Given the description of an element on the screen output the (x, y) to click on. 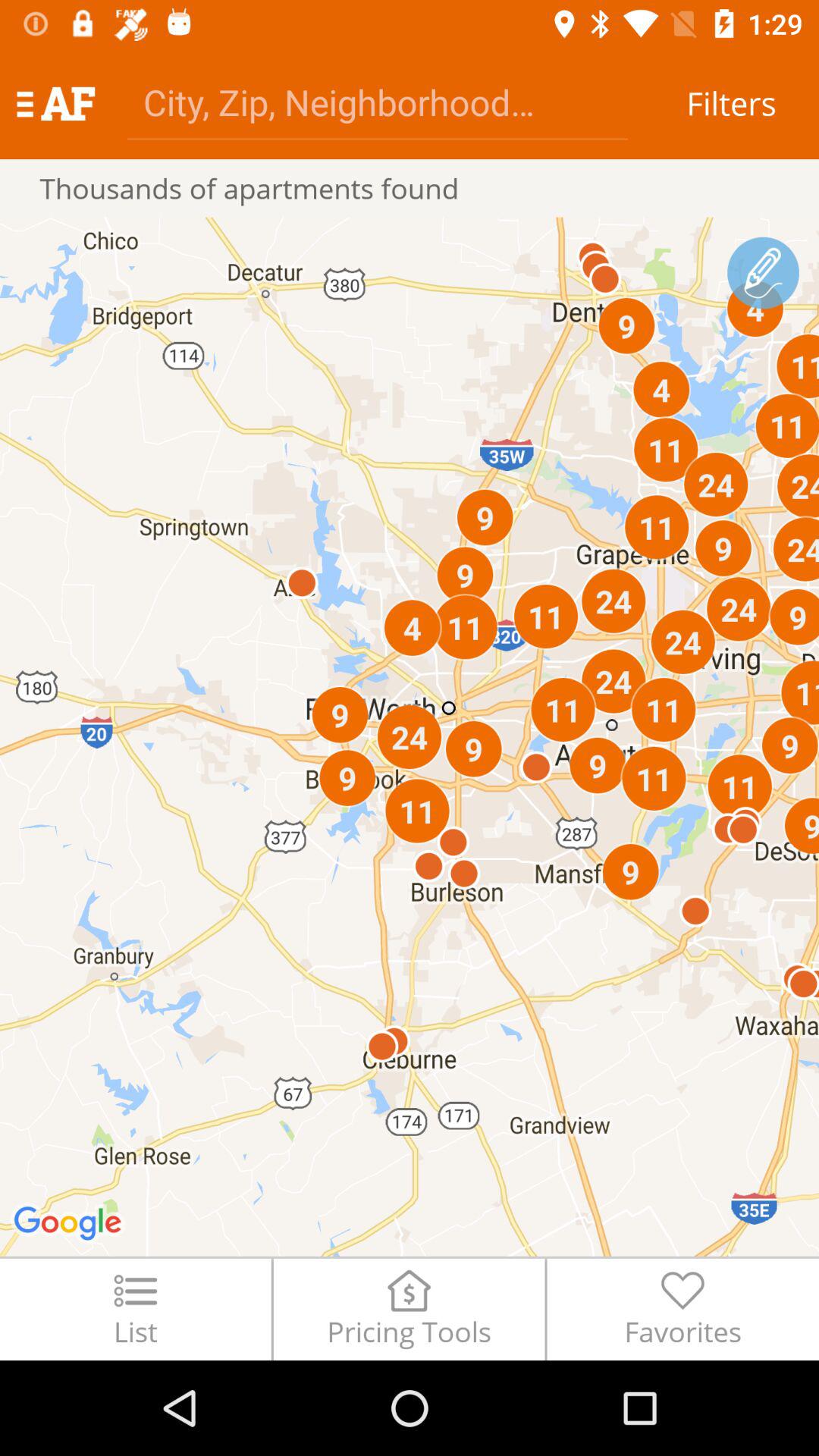
press icon below the filters item (763, 272)
